Given the description of an element on the screen output the (x, y) to click on. 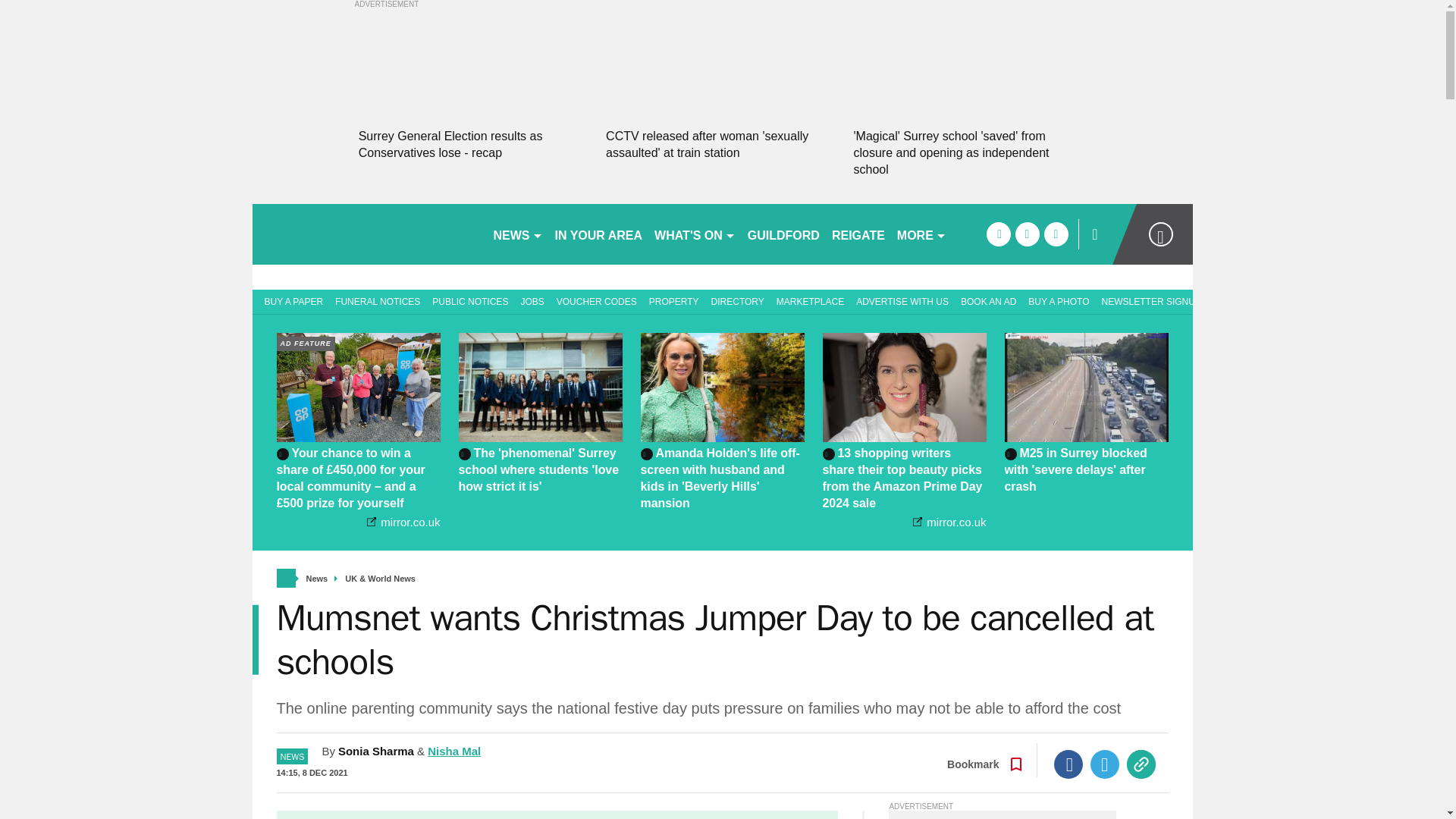
GUILDFORD (783, 233)
instagram (1055, 233)
Twitter (1104, 764)
REIGATE (858, 233)
WHAT'S ON (694, 233)
NEWS (517, 233)
facebook (997, 233)
getsurrey (365, 233)
